Given the description of an element on the screen output the (x, y) to click on. 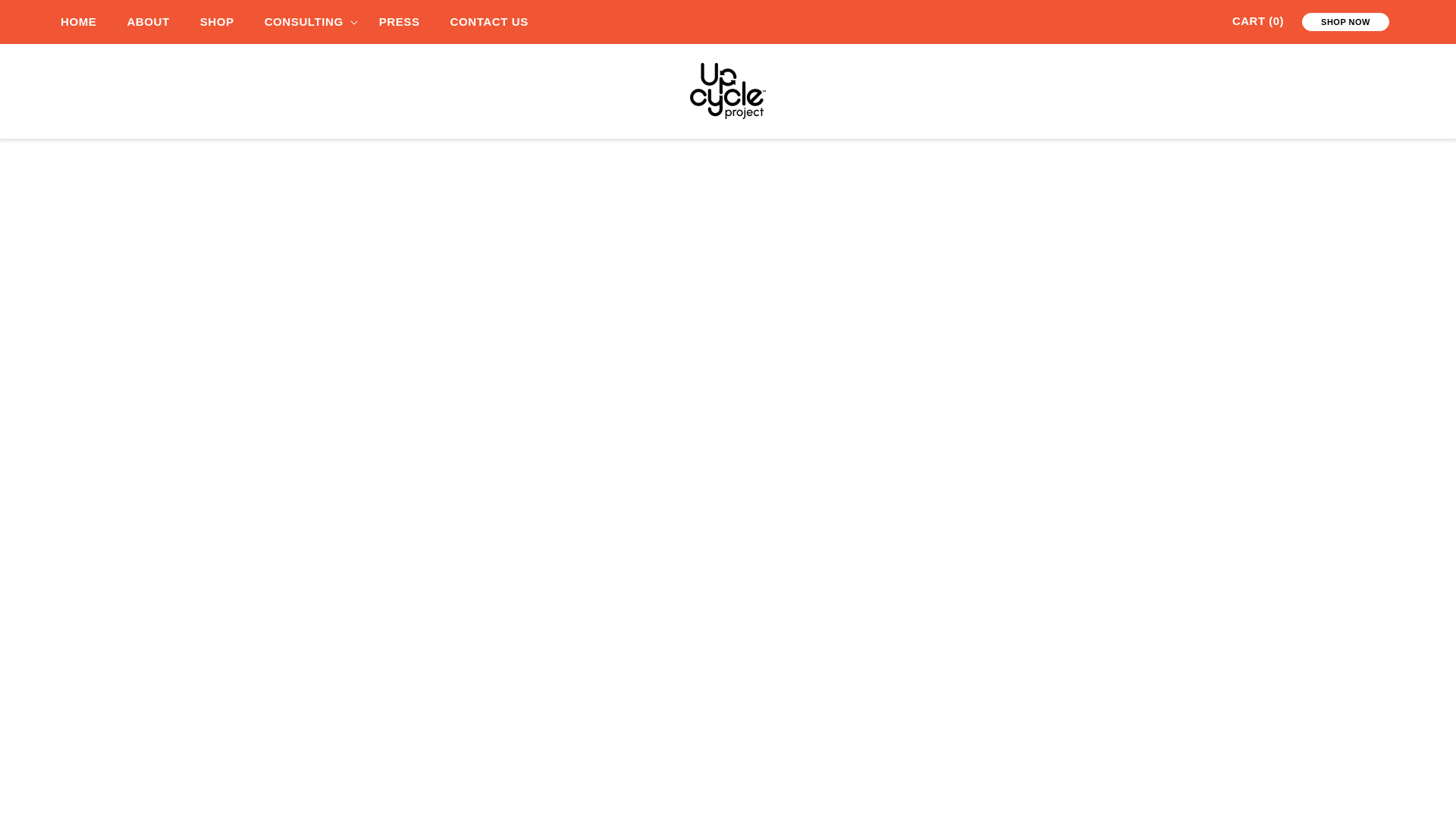
HOME (86, 20)
PRESS (399, 20)
SHOP NOW (1345, 22)
ABOUT (148, 20)
SHOP (216, 20)
CONTACT US (489, 20)
SKIP TO CONTENT (111, 22)
